Given the description of an element on the screen output the (x, y) to click on. 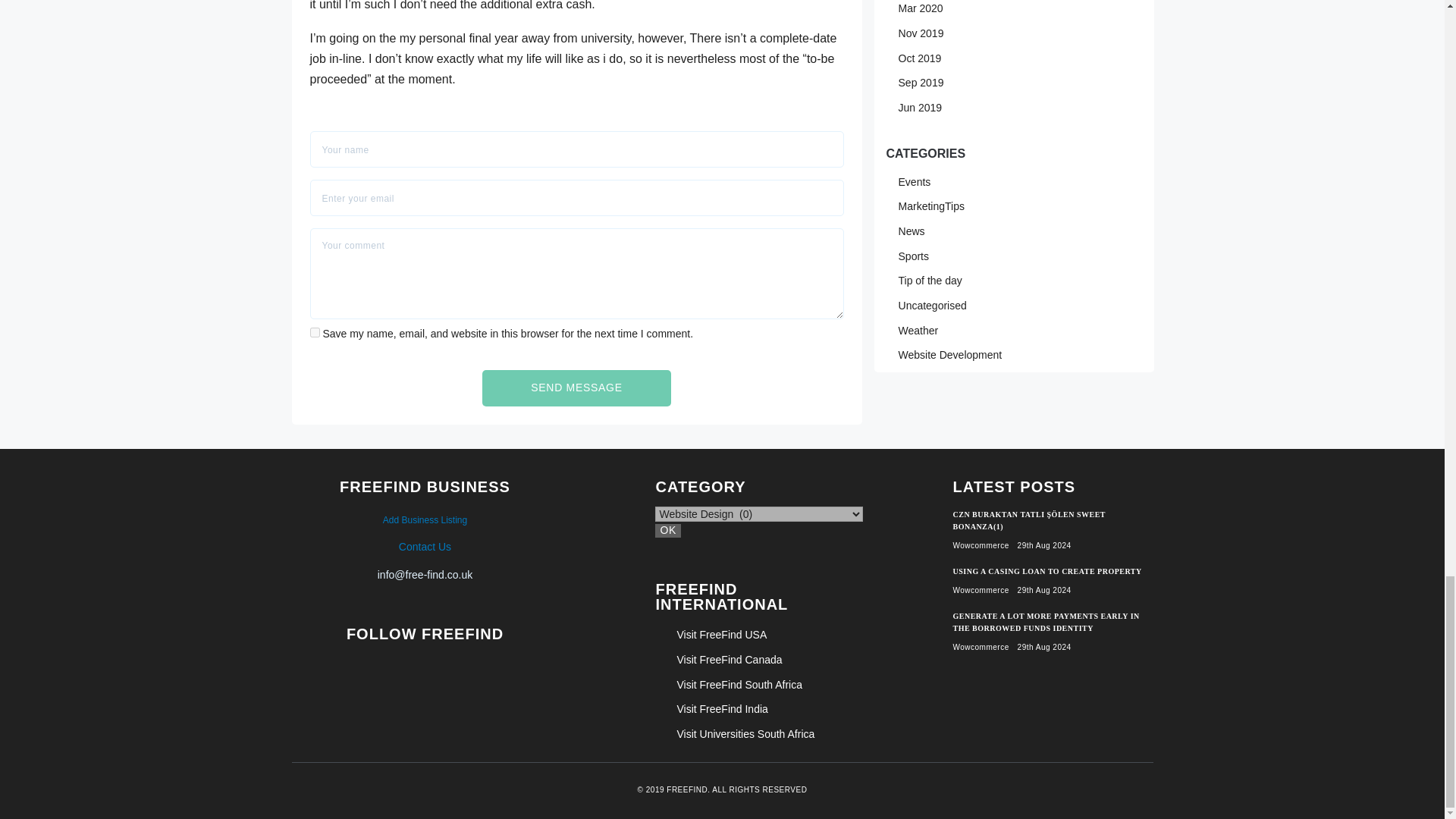
Send message (576, 388)
ok (668, 530)
Send message (576, 388)
yes (315, 332)
